Given the description of an element on the screen output the (x, y) to click on. 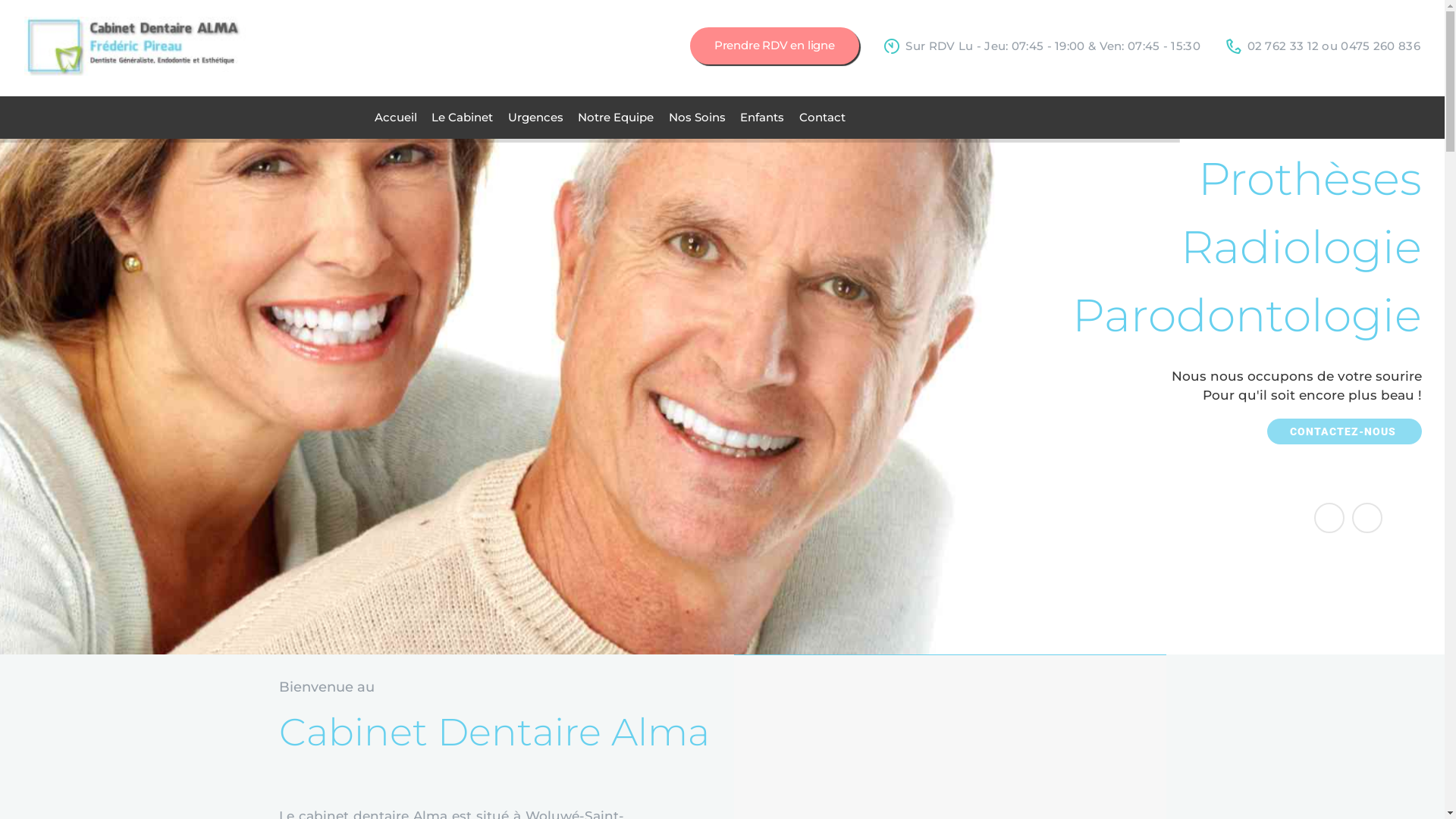
Prendre RDV en ligne Element type: text (774, 45)
02 762 33 12 ou 0475 260 836 Element type: text (1323, 45)
Accueil Element type: text (395, 117)
Le Cabinet Element type: text (461, 117)
Enfants Element type: text (761, 117)
Contact Element type: text (822, 117)
Notre Equipe Element type: text (615, 117)
Nos Soins Element type: text (697, 117)
Urgences Element type: text (535, 117)
